Given the description of an element on the screen output the (x, y) to click on. 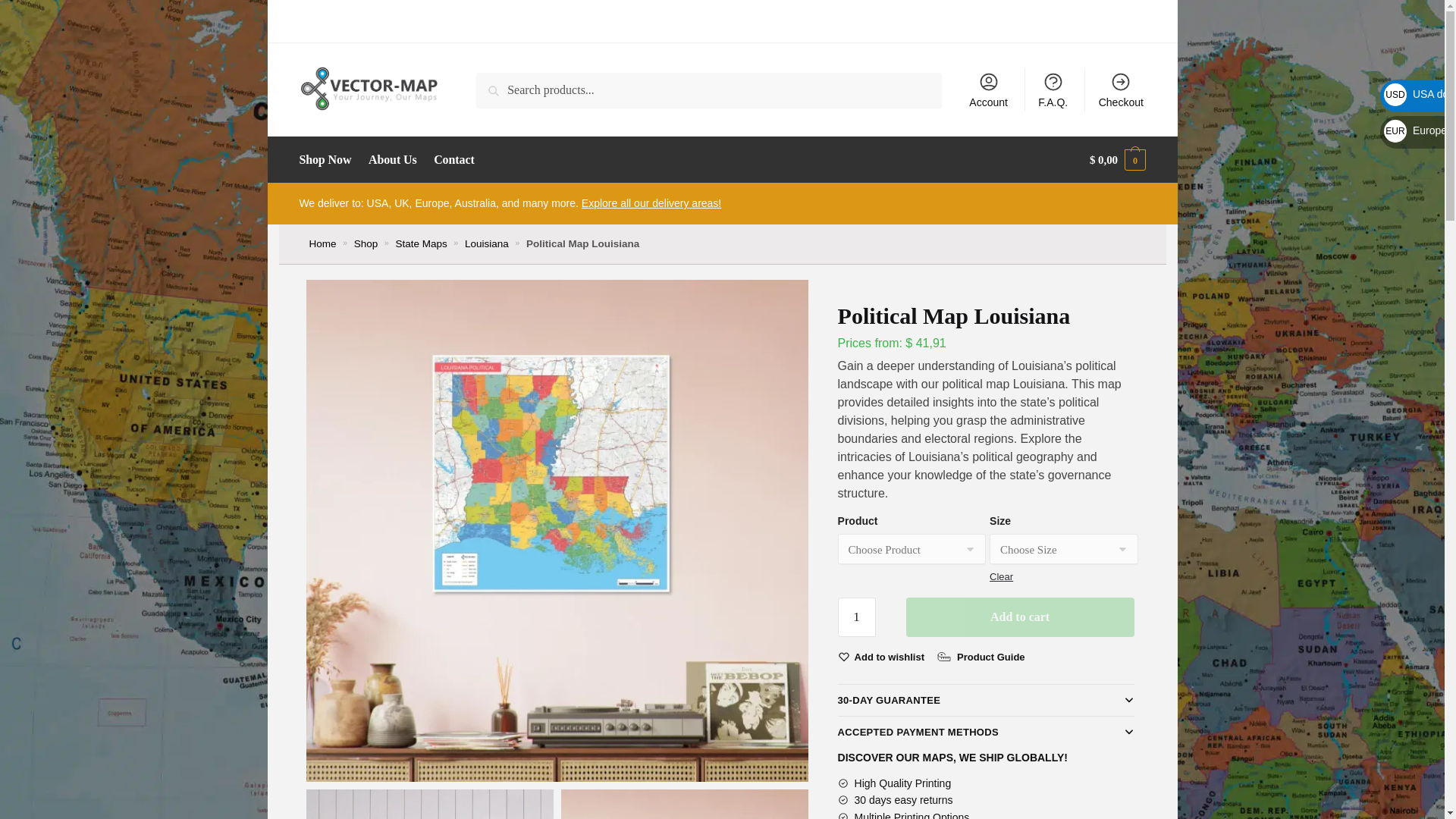
Clear (1001, 576)
Shop (365, 243)
click to zoom-in (684, 804)
Explore all our delivery areas! (650, 203)
View your shopping cart (1117, 159)
Account (987, 89)
Search (497, 83)
About Us (392, 159)
Contact (453, 159)
Checkout (1121, 89)
State Maps (420, 243)
Home (322, 243)
1 (857, 617)
click to zoom-in (429, 804)
